Given the description of an element on the screen output the (x, y) to click on. 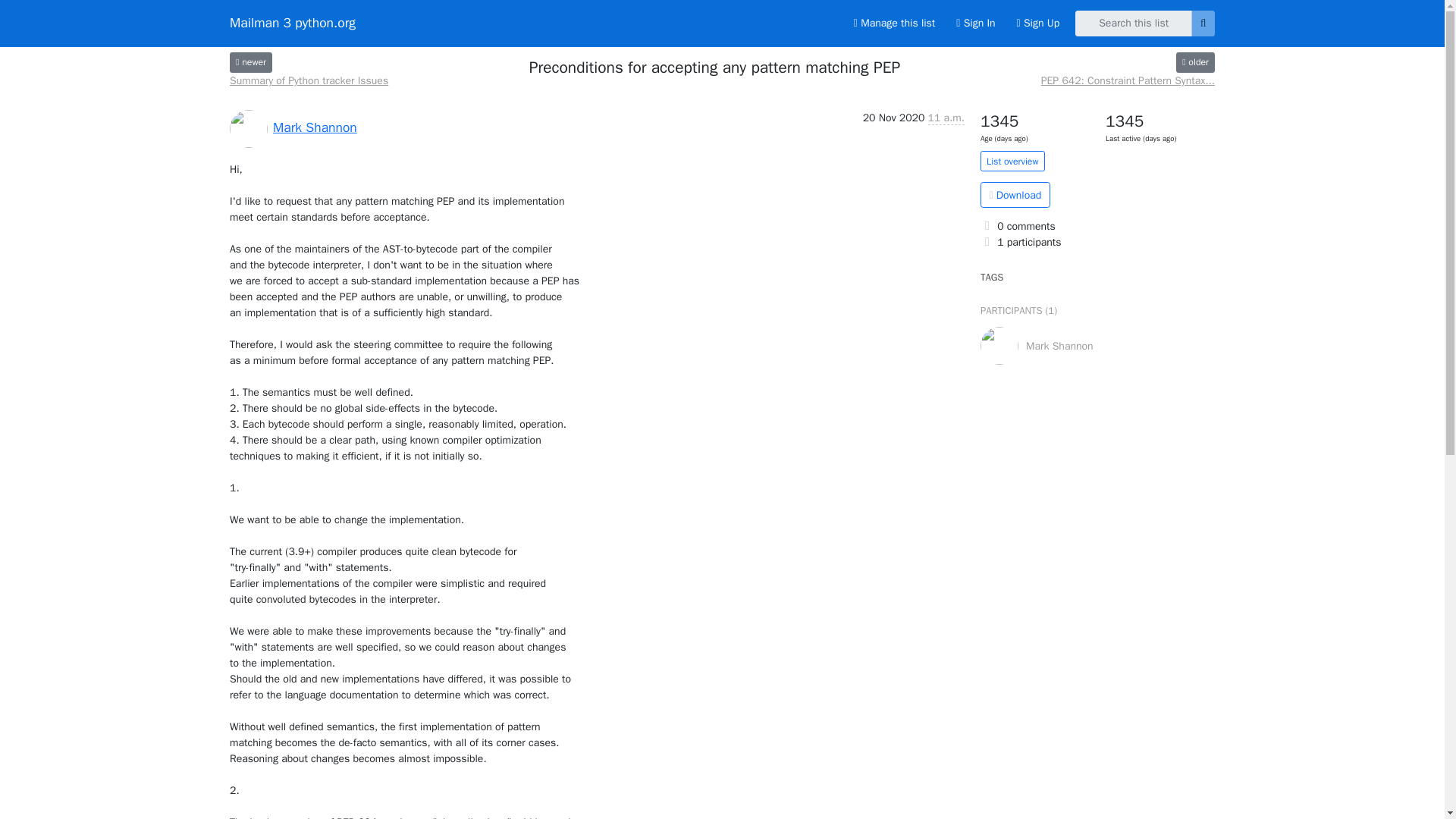
Download (1014, 194)
Summary of Python tracker Issues (309, 80)
This thread in gzipped mbox format (1014, 194)
Summary of Python tracker Issues (309, 80)
List overview (1012, 160)
Mark Shannon (314, 126)
Sender's time: Nov. 20, 2020, 5 p.m. (945, 118)
Manage this list (893, 22)
See the profile for Mark Shannon (314, 126)
Mailman 3 python.org (292, 23)
Sign Up (1038, 22)
PEP 642: Constraint Pattern Syntax... (1127, 80)
newer (251, 61)
